Given the description of an element on the screen output the (x, y) to click on. 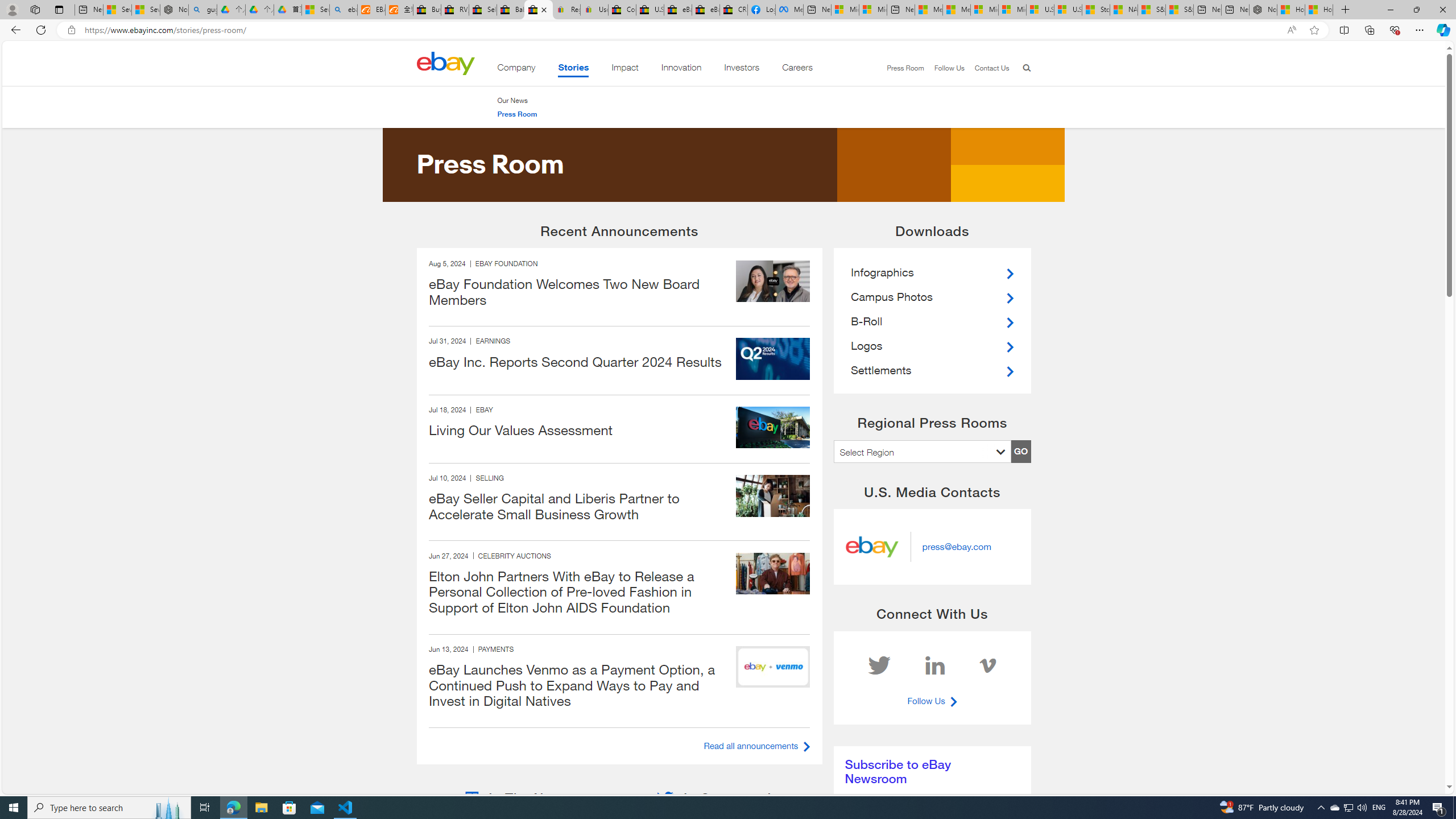
Log into Facebook (761, 9)
AutomationID: press-dropdown (921, 450)
Register: Create a personal eBay account (566, 9)
Tab actions menu (58, 9)
Press Room - eBay Inc. (538, 9)
Stories (573, 69)
Close (1442, 9)
Workspaces (34, 9)
969302575 (772, 573)
Browser essentials (1394, 29)
Buy Auto Parts & Accessories | eBay (426, 9)
